Given the description of an element on the screen output the (x, y) to click on. 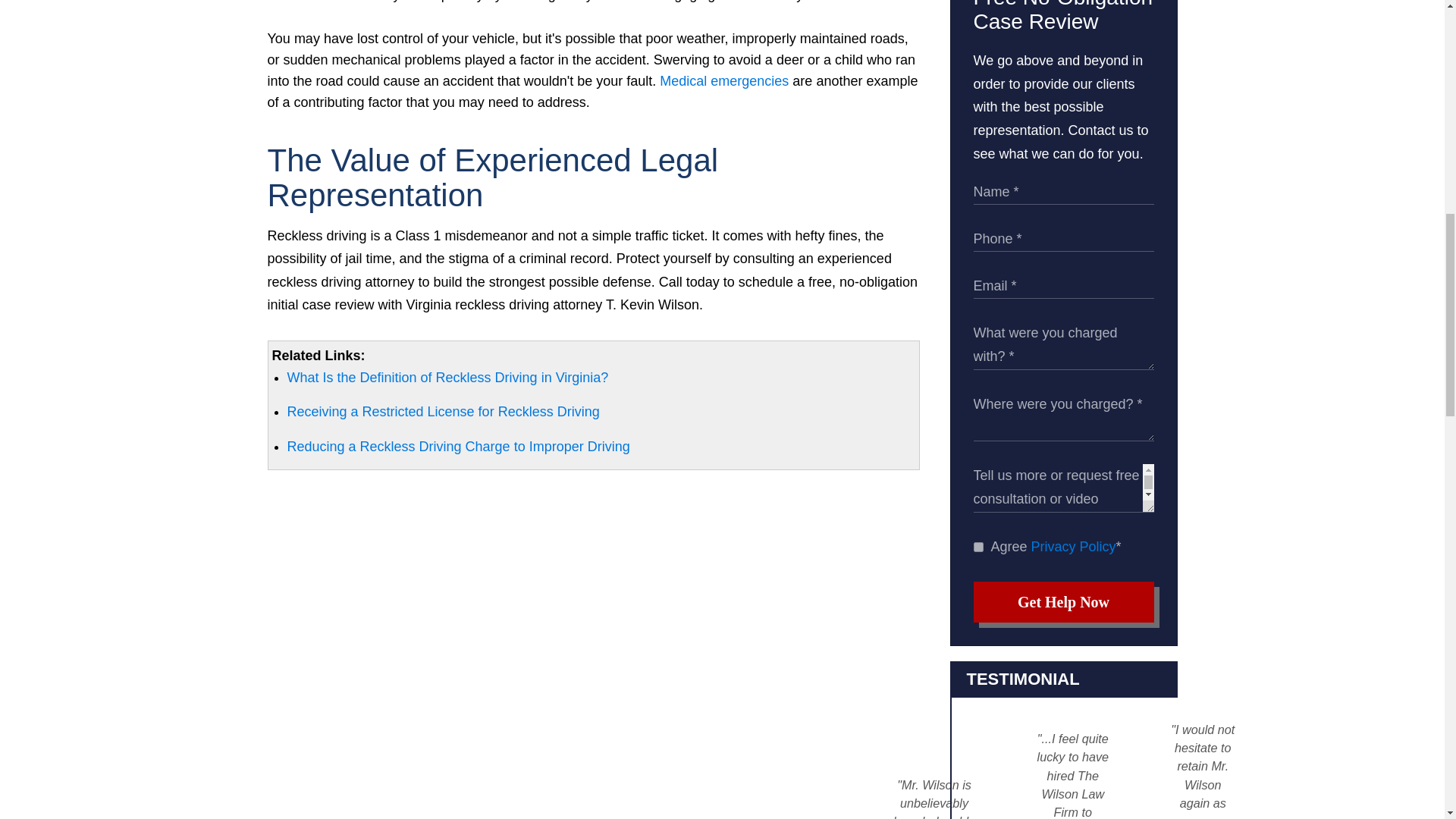
Reducing a Reckless Driving Charge to Improper Driving (457, 446)
1 (979, 547)
What Is the Definition of Reckless Driving in Virginia? (447, 377)
Medical emergencies (724, 80)
Receiving a Restricted License for Reckless Driving (442, 411)
